Given the description of an element on the screen output the (x, y) to click on. 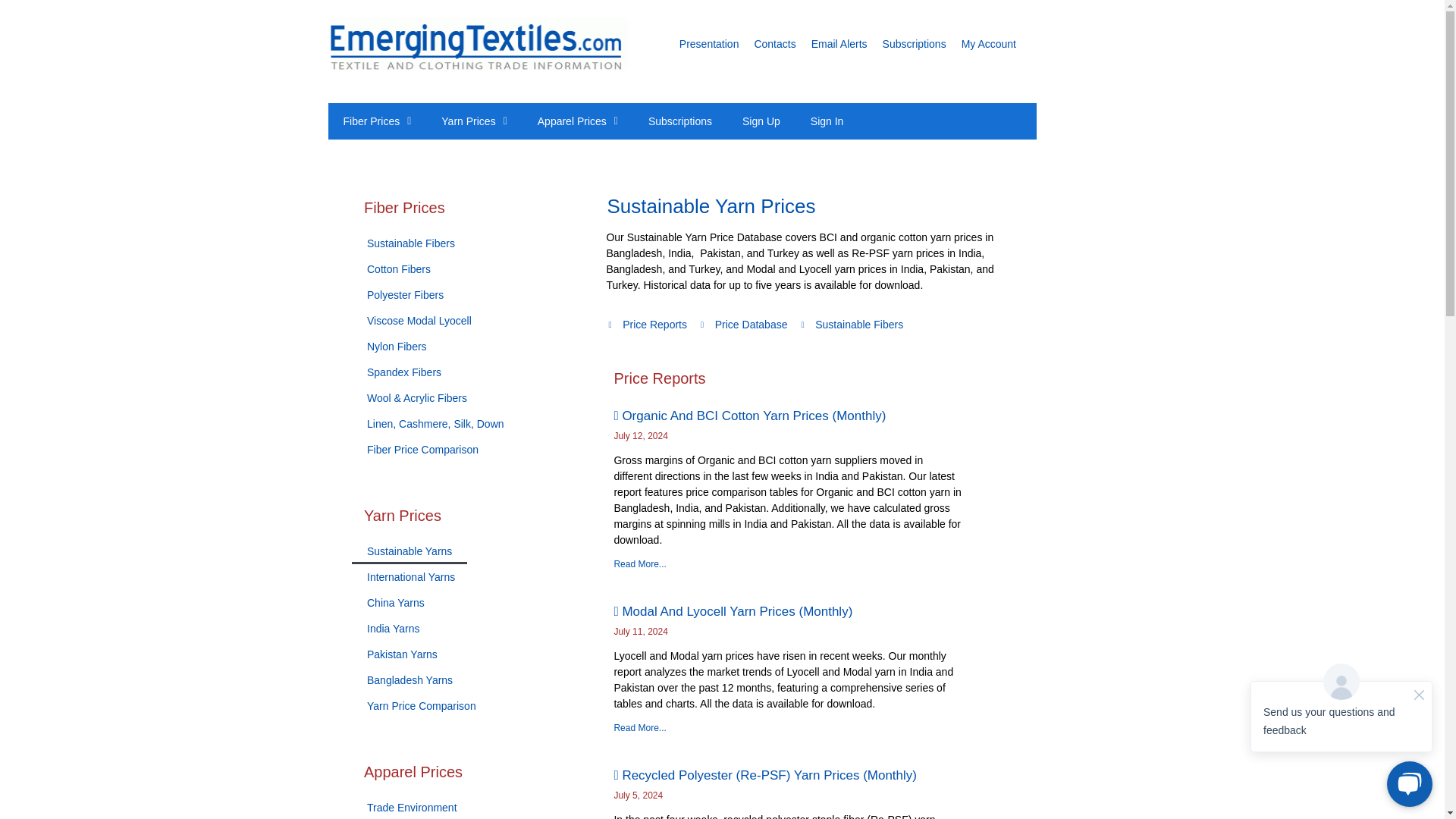
Subscriptions (914, 44)
My Account (988, 44)
Fiber Prices (376, 120)
Email Alerts (838, 44)
Yarn Prices (473, 120)
Presentation (709, 44)
Contacts (774, 44)
